Given the description of an element on the screen output the (x, y) to click on. 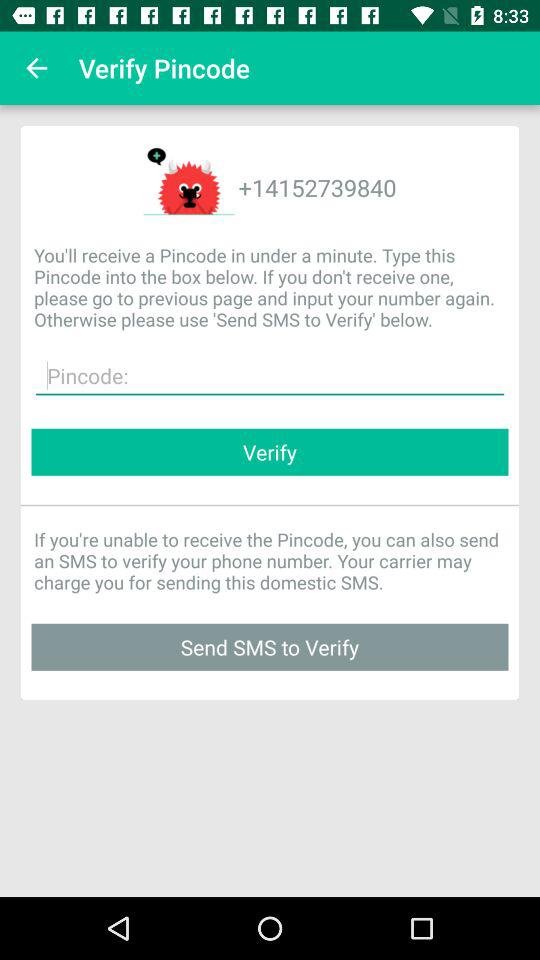
click the icon above you ll receive item (36, 68)
